Given the description of an element on the screen output the (x, y) to click on. 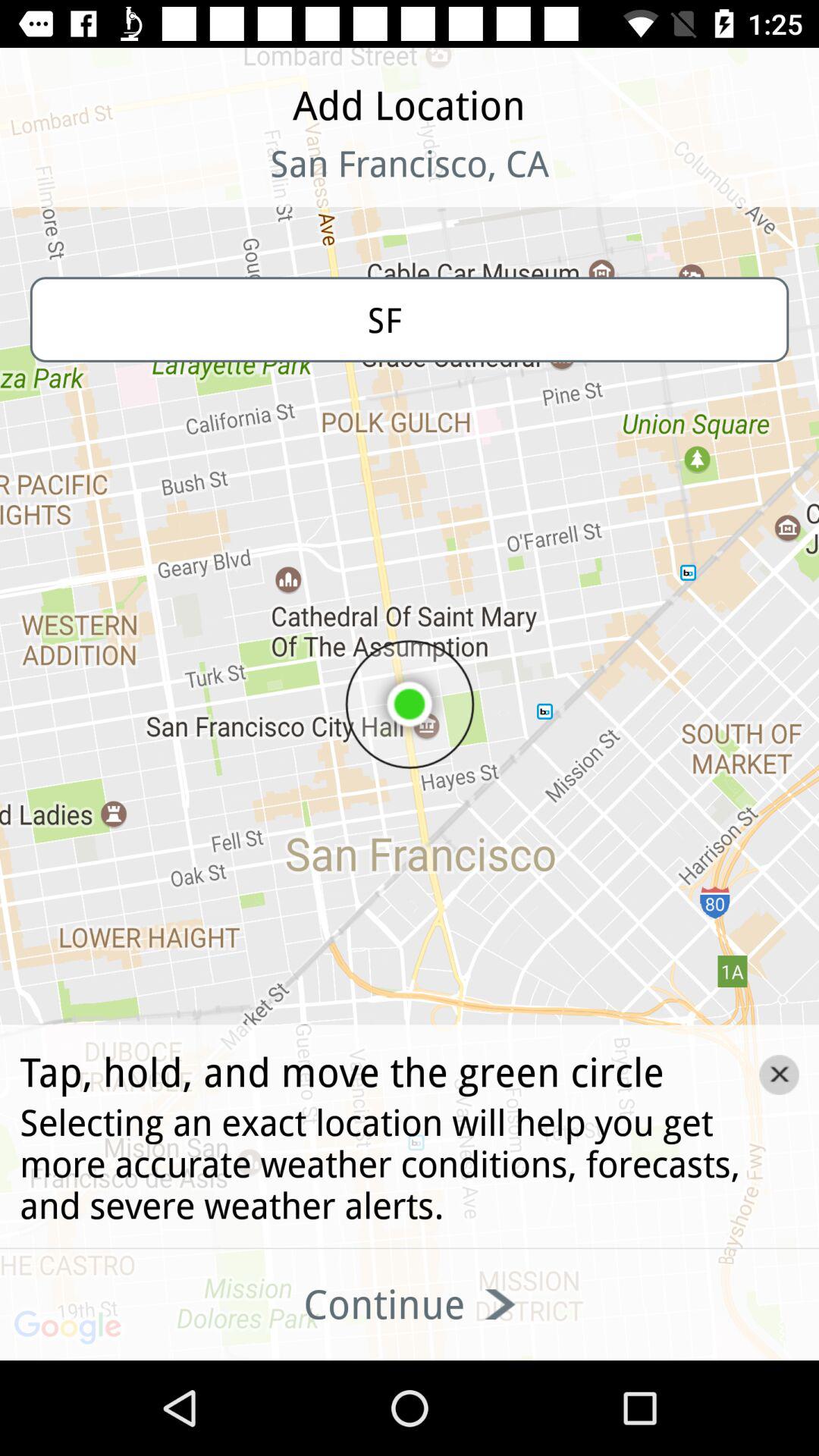
select the icon to the right of tap hold and item (779, 1074)
